Given the description of an element on the screen output the (x, y) to click on. 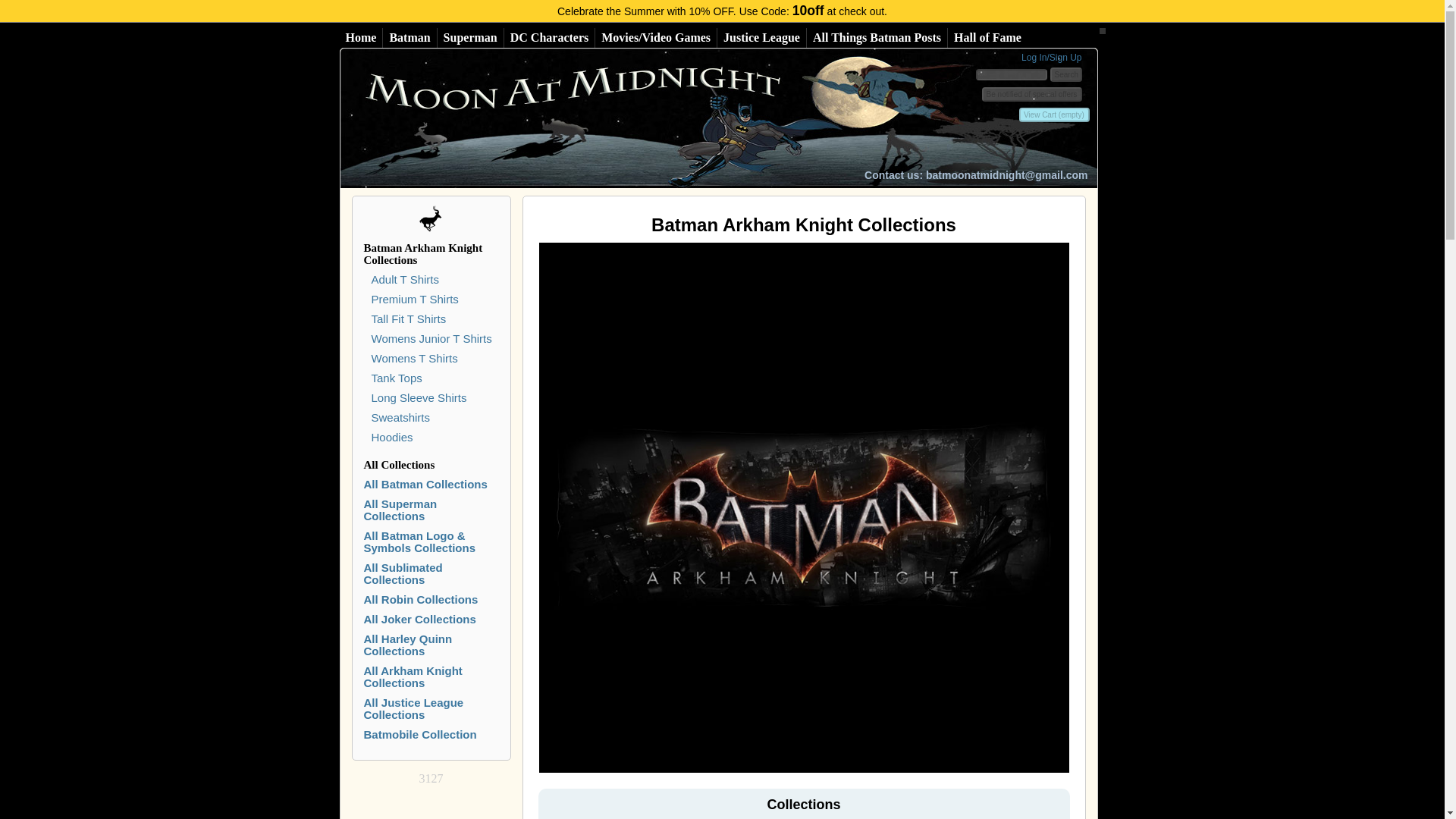
Be notified of special offers (1031, 93)
All Things Batman Posts (876, 37)
Search (1065, 74)
Adult T Shirts (405, 278)
Home (361, 37)
Batman Arkham Knight - Premium T Shirts (414, 298)
Justice League (761, 37)
Hall of Fame (987, 37)
Premium T Shirts (414, 298)
Batman (409, 37)
Search (1065, 74)
Be notified of special offers (1031, 93)
Superman (470, 37)
All Batman Collections (409, 37)
HOME (604, 118)
